Given the description of an element on the screen output the (x, y) to click on. 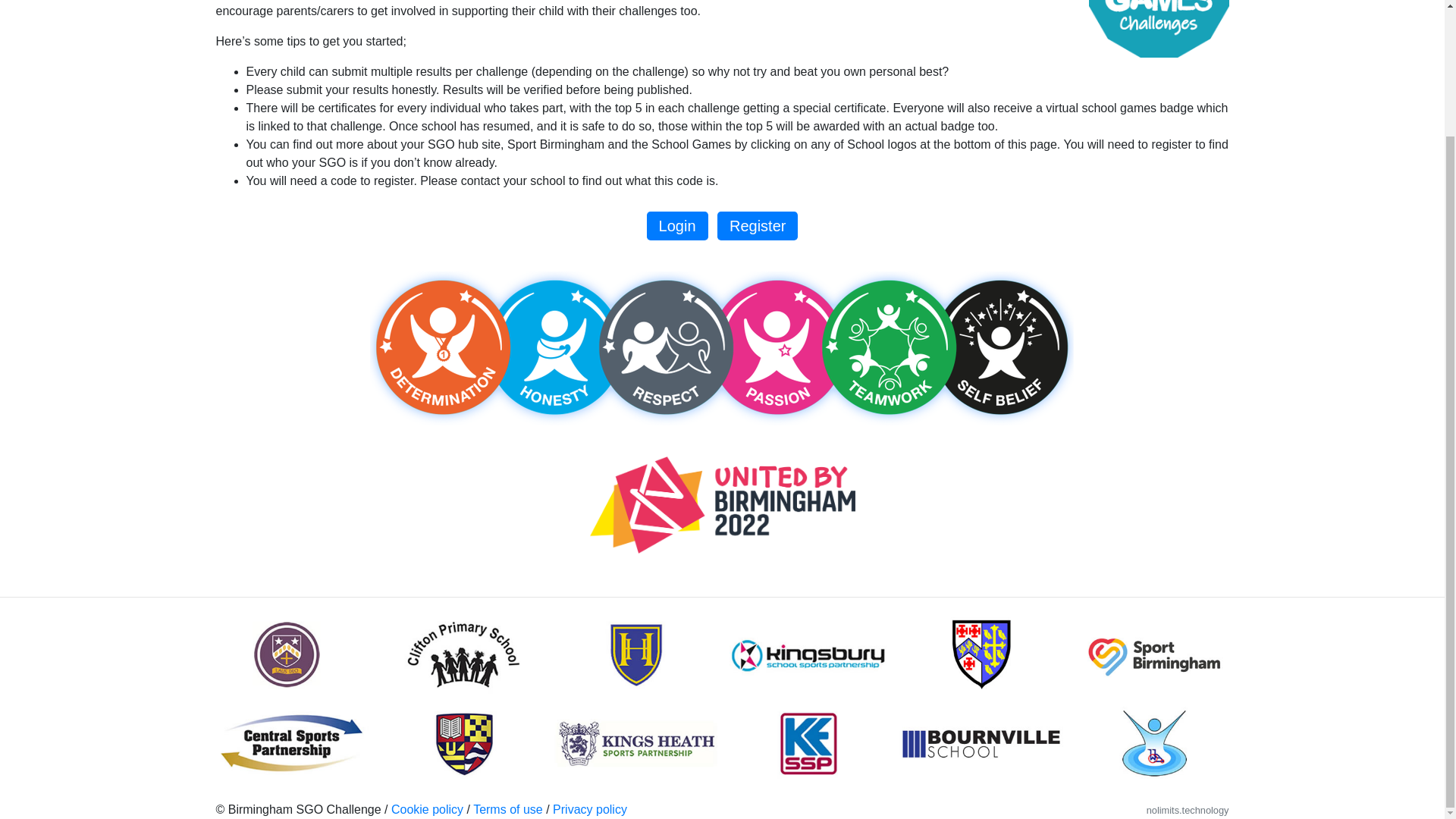
Cookie policy (427, 809)
Register (757, 225)
Login (676, 225)
Privacy policy (590, 809)
Terms of use (508, 809)
